Given the description of an element on the screen output the (x, y) to click on. 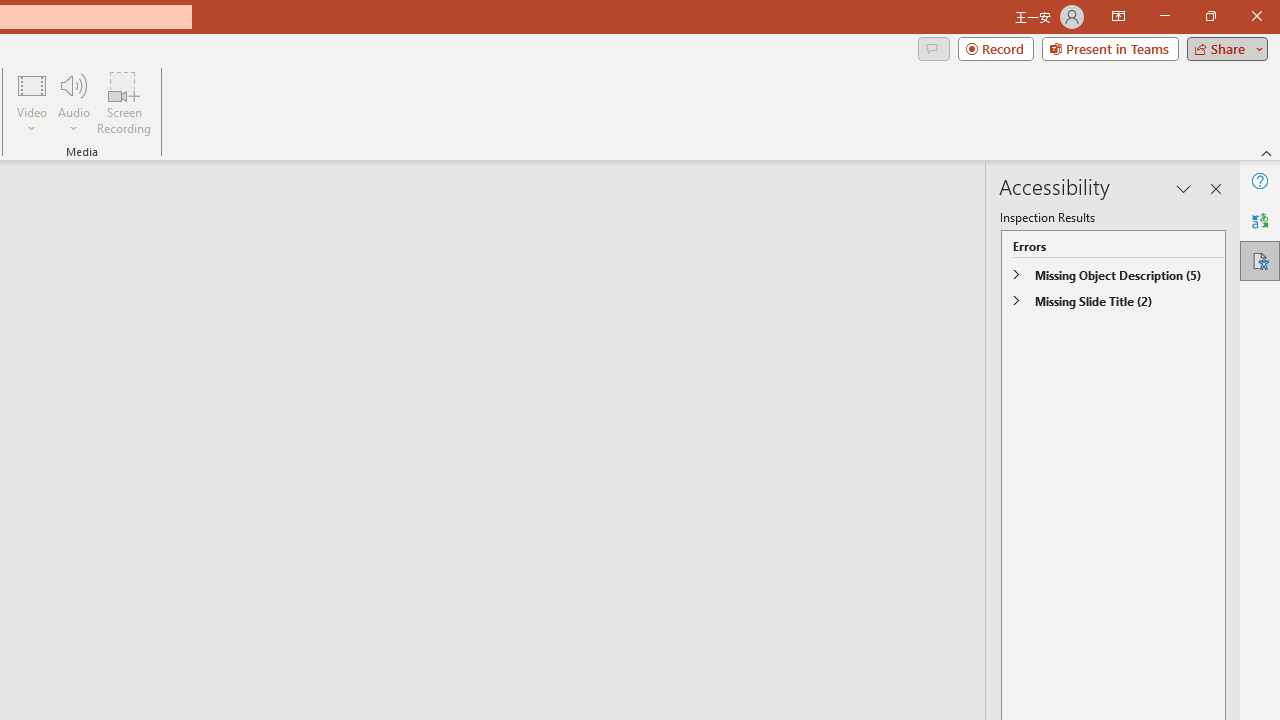
Translator (1260, 220)
